Given the description of an element on the screen output the (x, y) to click on. 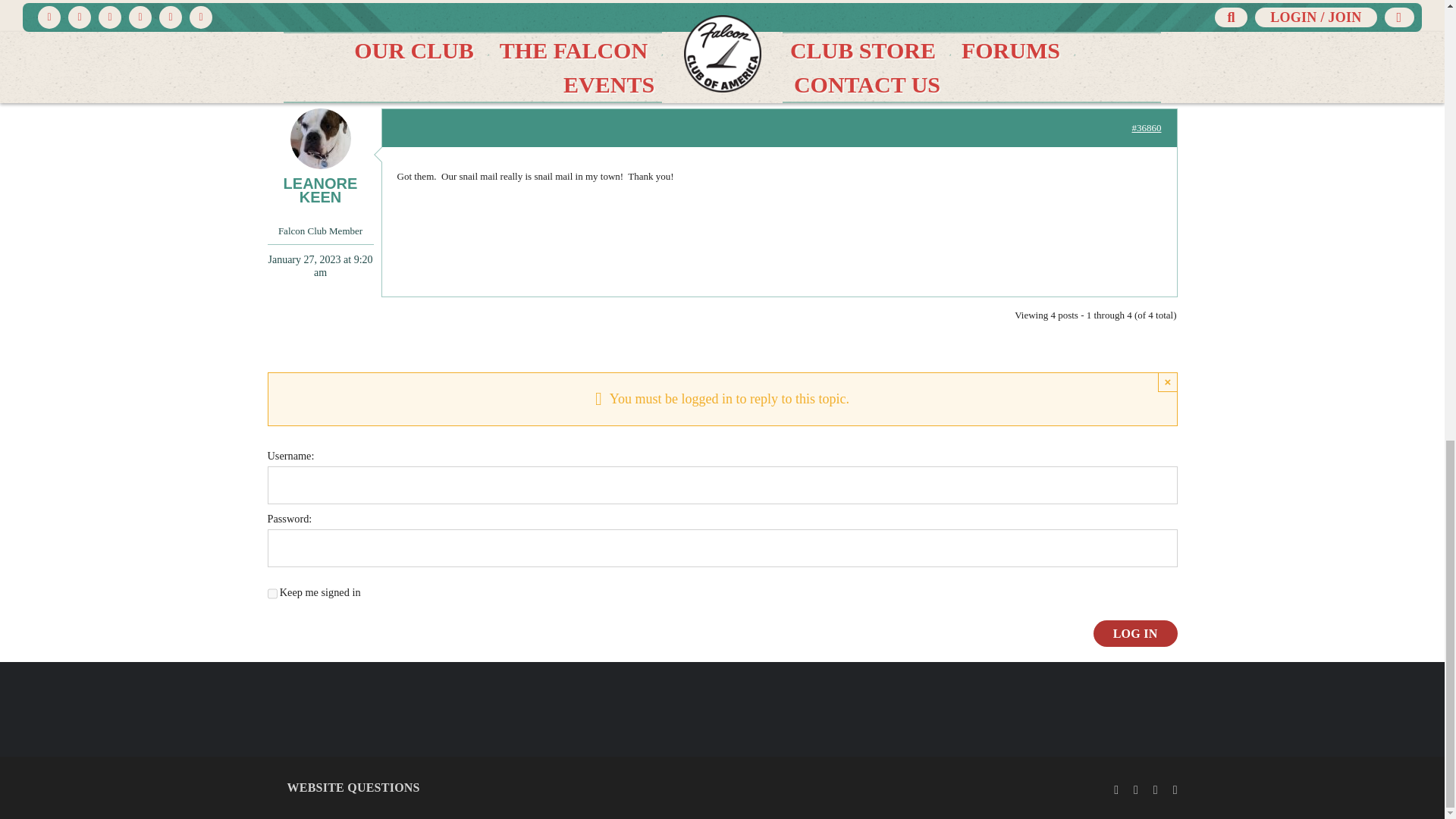
View Leanore Keen's profile (319, 155)
